Given the description of an element on the screen output the (x, y) to click on. 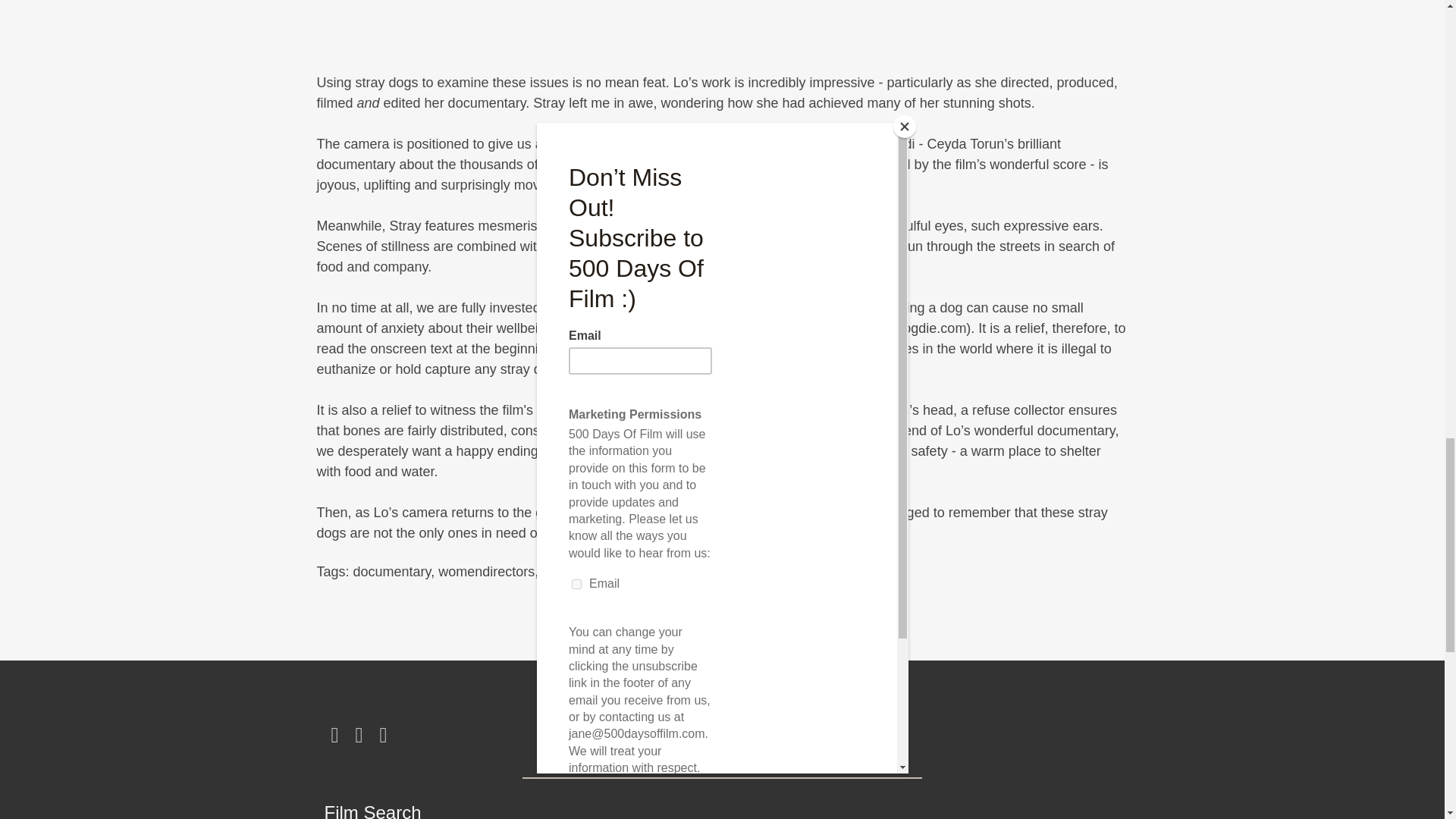
Twitter (359, 735)
Facebook (335, 735)
Email (383, 735)
